Given the description of an element on the screen output the (x, y) to click on. 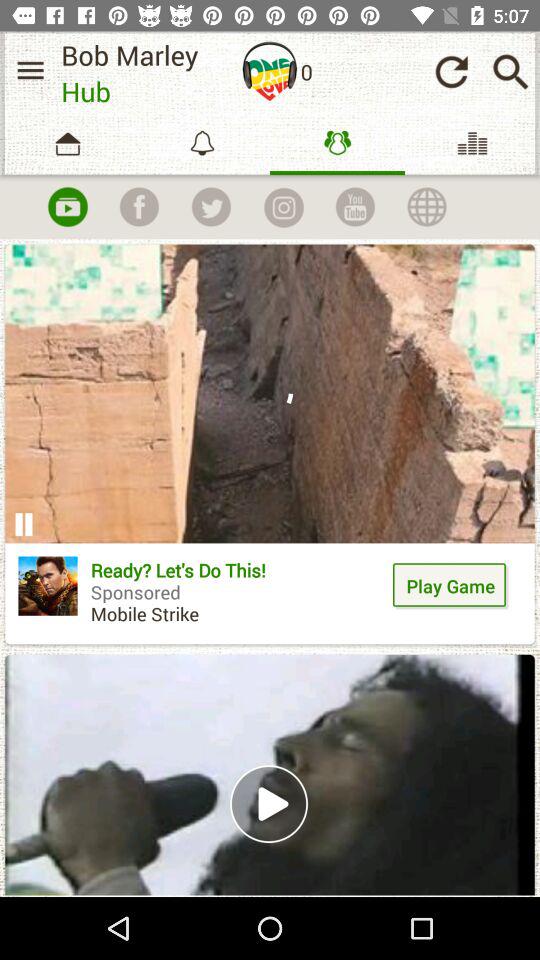
select video (269, 774)
